Given the description of an element on the screen output the (x, y) to click on. 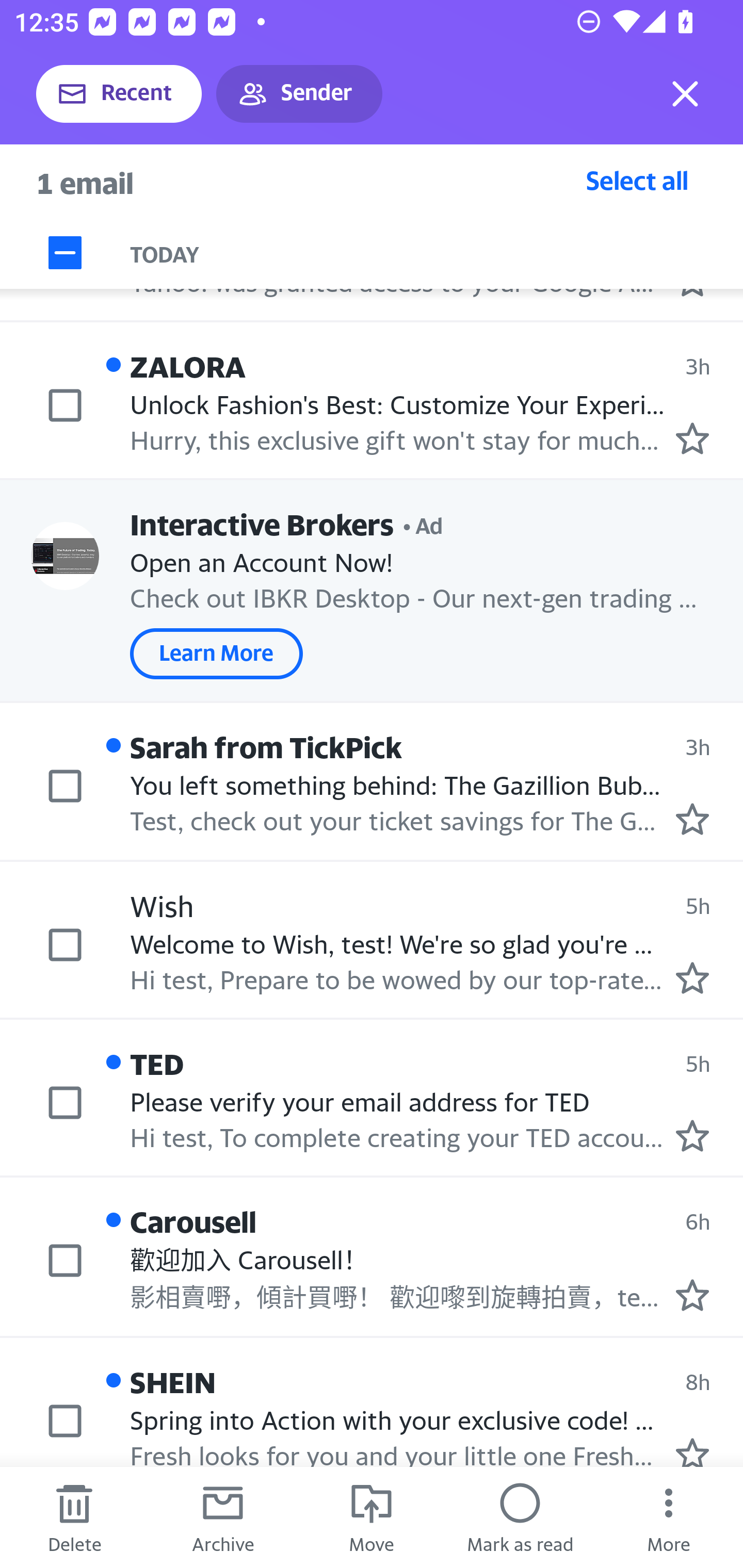
Sender (299, 93)
Exit selection mode (684, 93)
Select all (637, 180)
Mark as starred. (692, 438)
Mark as starred. (692, 819)
Mark as starred. (692, 977)
Mark as starred. (692, 1135)
Mark as starred. (692, 1294)
Mark as starred. (692, 1451)
Delete (74, 1517)
Archive (222, 1517)
Move (371, 1517)
Mark as read (519, 1517)
More (668, 1517)
